Given the description of an element on the screen output the (x, y) to click on. 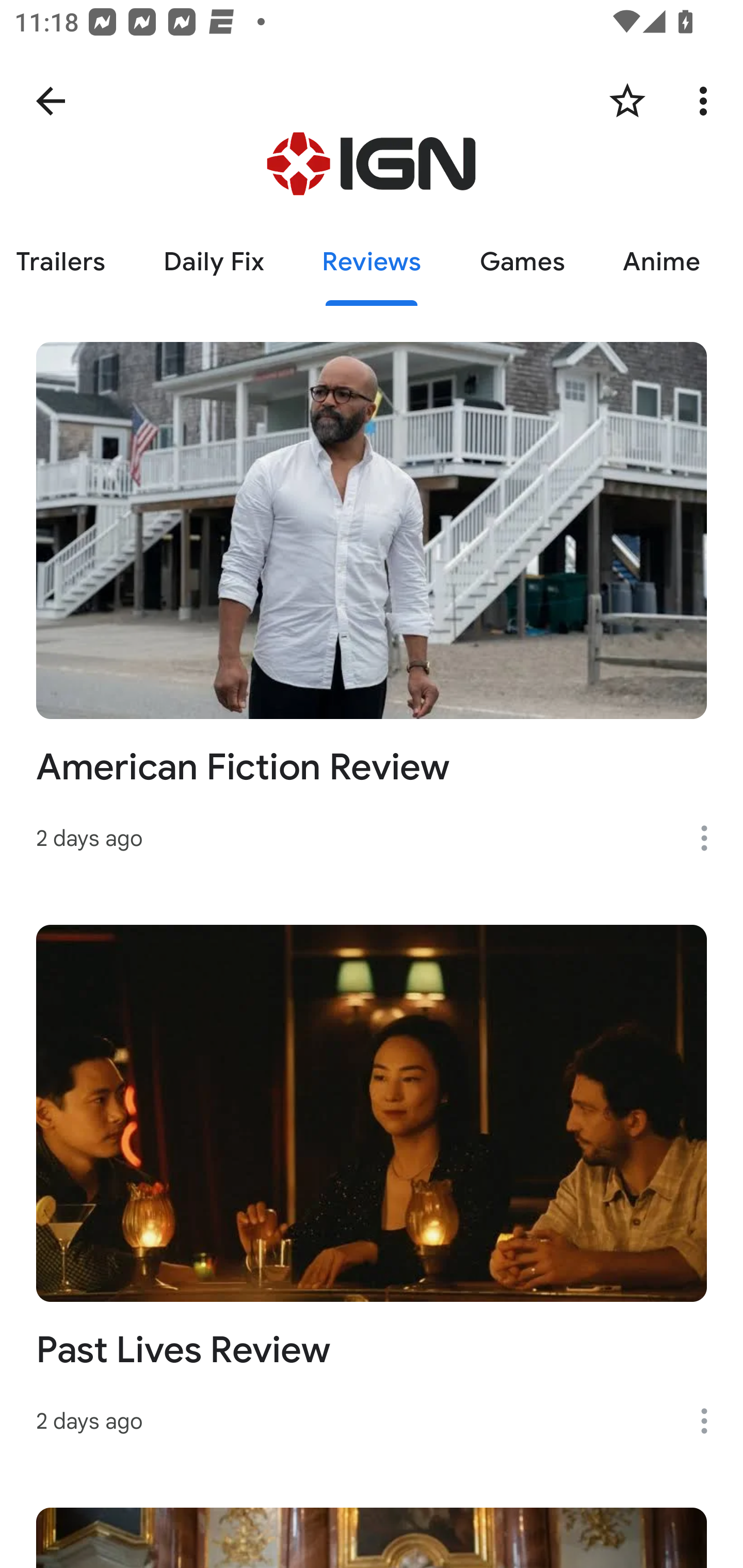
Navigate up (50, 101)
Follow (626, 101)
More options (706, 101)
Trailers (67, 262)
Daily Fix (213, 262)
Games (521, 262)
Anime (661, 262)
More options (711, 837)
More options (711, 1421)
